Given the description of an element on the screen output the (x, y) to click on. 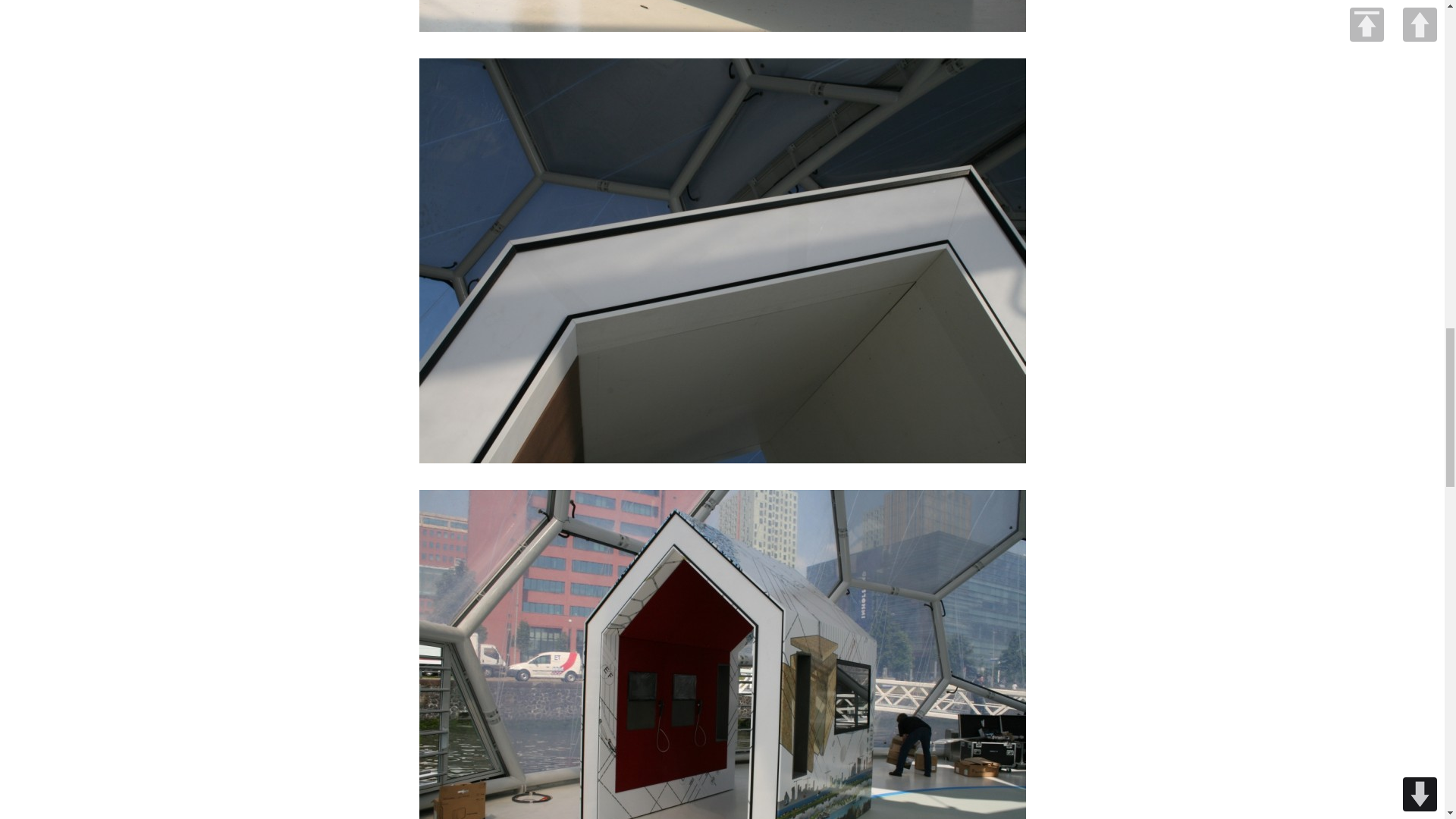
bouwhuisjesrotterdam1 (722, 15)
